Given the description of an element on the screen output the (x, y) to click on. 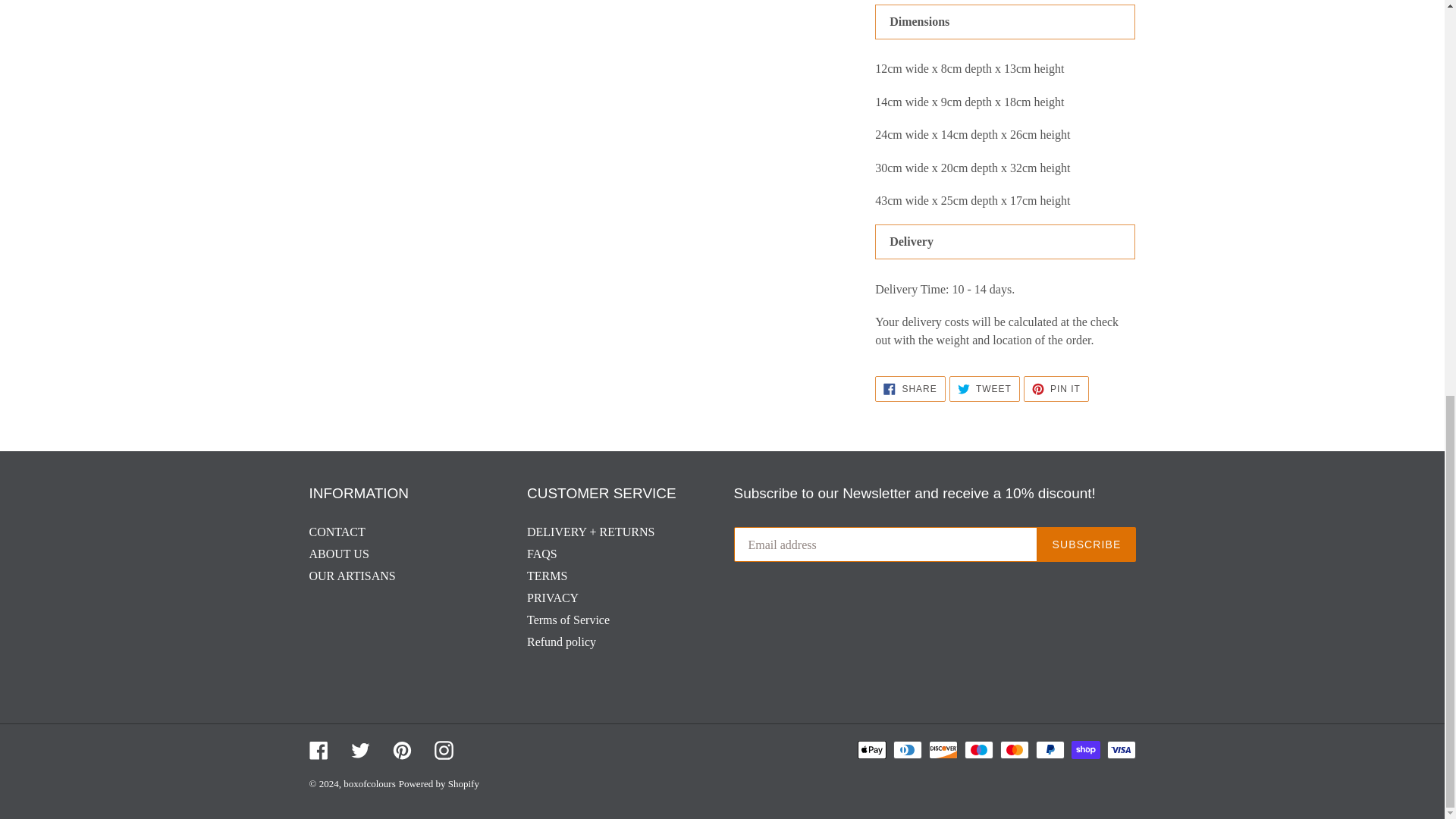
CONTACT (909, 388)
OUR ARTISANS (1056, 388)
 Dimensions (984, 388)
ABOUT US (336, 531)
 Delivery   (352, 575)
